Given the description of an element on the screen output the (x, y) to click on. 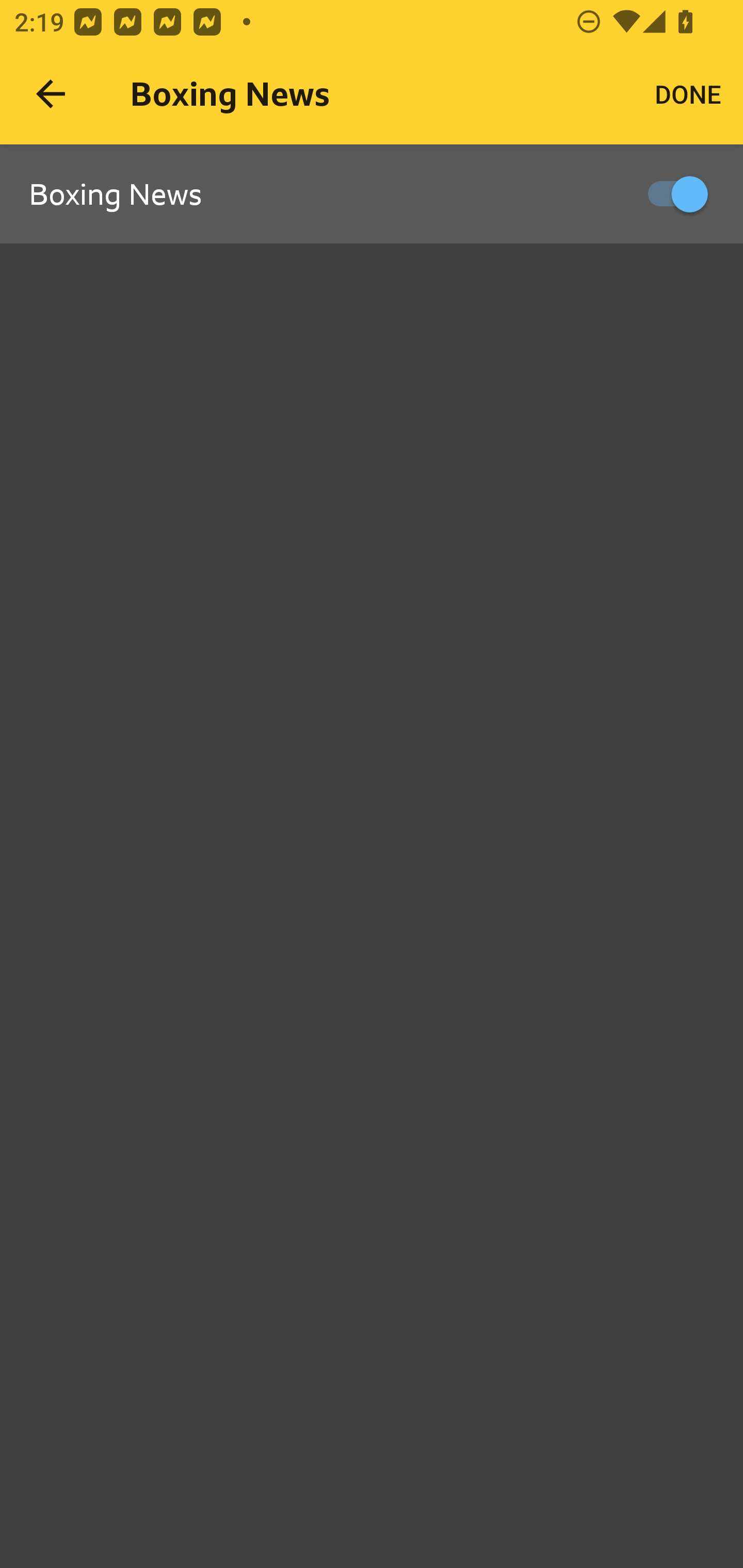
Navigate up (50, 93)
DONE (688, 93)
Boxing News, ON, Switch Boxing News (371, 195)
